Given the description of an element on the screen output the (x, y) to click on. 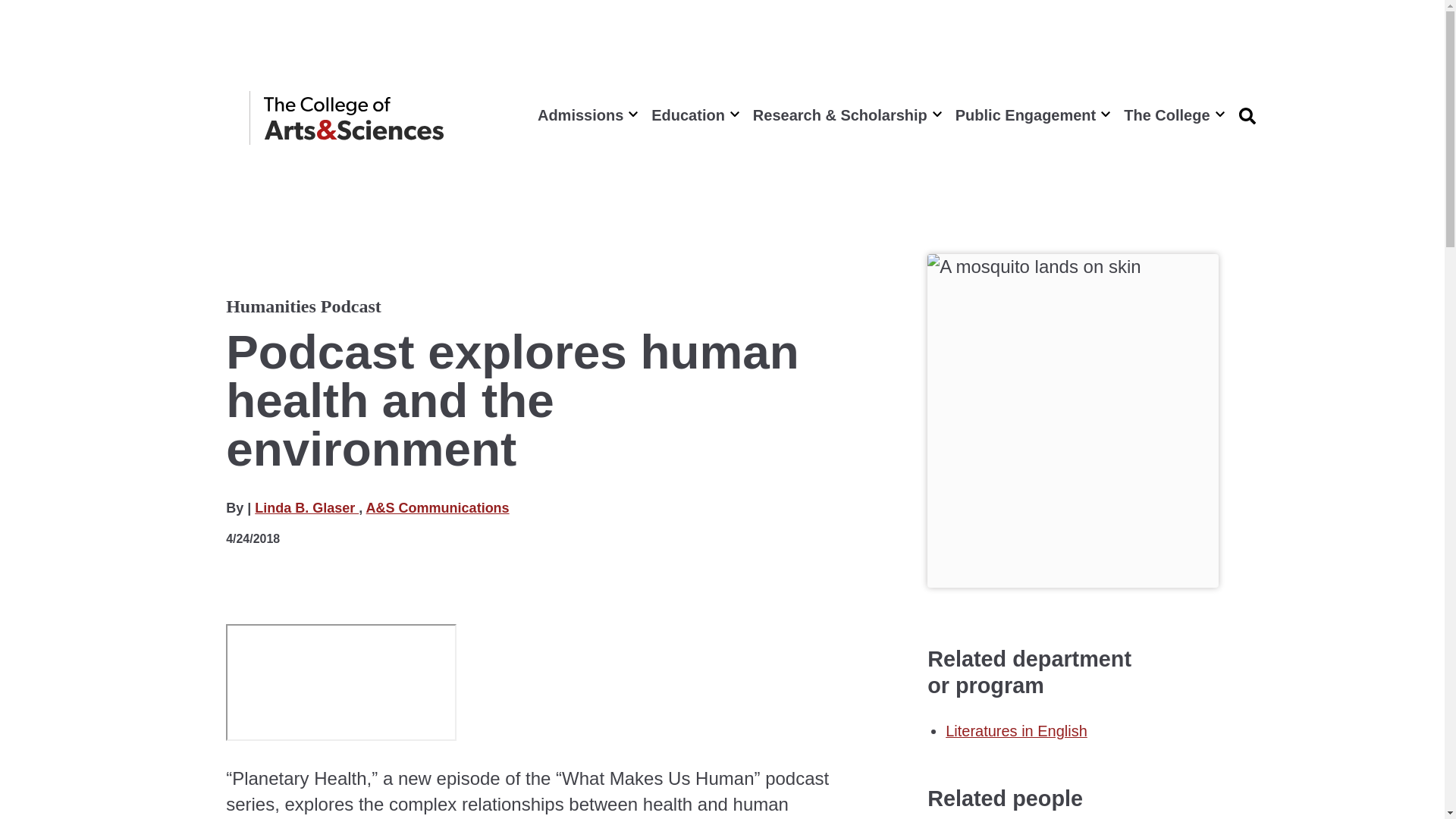
The College (1171, 115)
Public Engagement (1030, 115)
Planetary Health (341, 682)
Cornell University (206, 117)
Admissions (585, 115)
Education (693, 115)
Cornell University (206, 117)
